Given the description of an element on the screen output the (x, y) to click on. 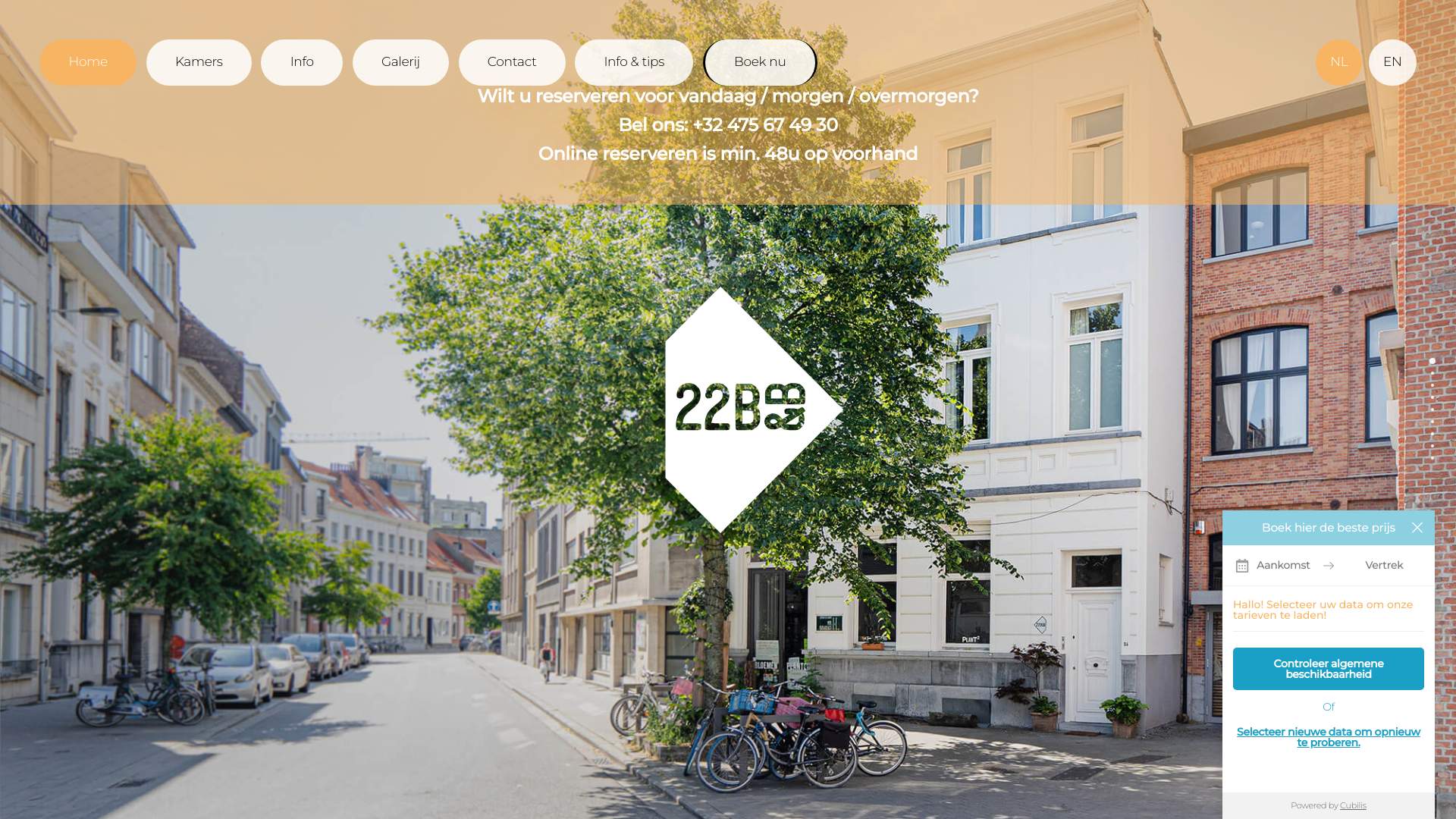
Controleer algemene beschikbaarheid Element type: text (1328, 668)
Home Element type: text (87, 62)
kamer03 Element type: text (1432, 409)
NL Element type: text (1338, 62)
EN Element type: text (1392, 62)
kamer01 Element type: text (1432, 385)
info Element type: text (1432, 433)
contact Element type: text (1432, 458)
kamer02 Element type: text (1432, 397)
Galerij Element type: text (400, 62)
Info Element type: text (301, 62)
Info & tips Element type: text (633, 62)
home Element type: text (1432, 360)
kamer04 Element type: text (1432, 421)
about Element type: text (1432, 373)
Selecteer nieuwe data om opnieuw te proberen. Element type: text (1328, 736)
Cubilis Element type: text (1352, 805)
Kamers Element type: text (198, 62)
galerij Element type: text (1432, 445)
Contact Element type: text (511, 62)
Boek nu Element type: text (759, 62)
